Given the description of an element on the screen output the (x, y) to click on. 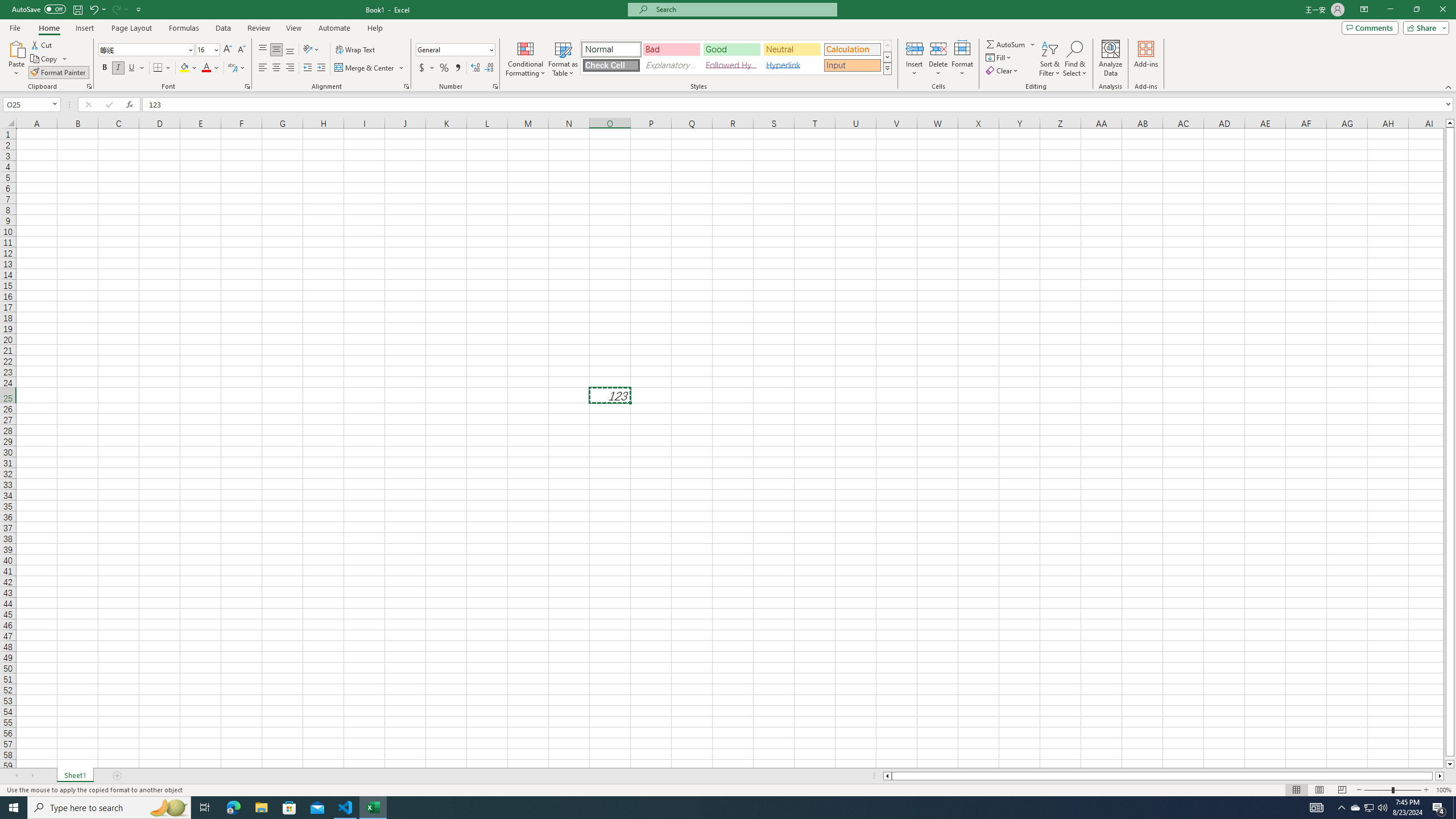
Conditional Formatting (525, 58)
Column left (886, 775)
Sum (1006, 44)
Format Cell Font (247, 85)
Top Align (262, 49)
Input (852, 65)
Number Format (451, 49)
Insert Cells (914, 48)
Line down (1449, 764)
Automate (334, 28)
Followed Hyperlink (731, 65)
Analyze Data (1110, 58)
Column right (1440, 775)
